Given the description of an element on the screen output the (x, y) to click on. 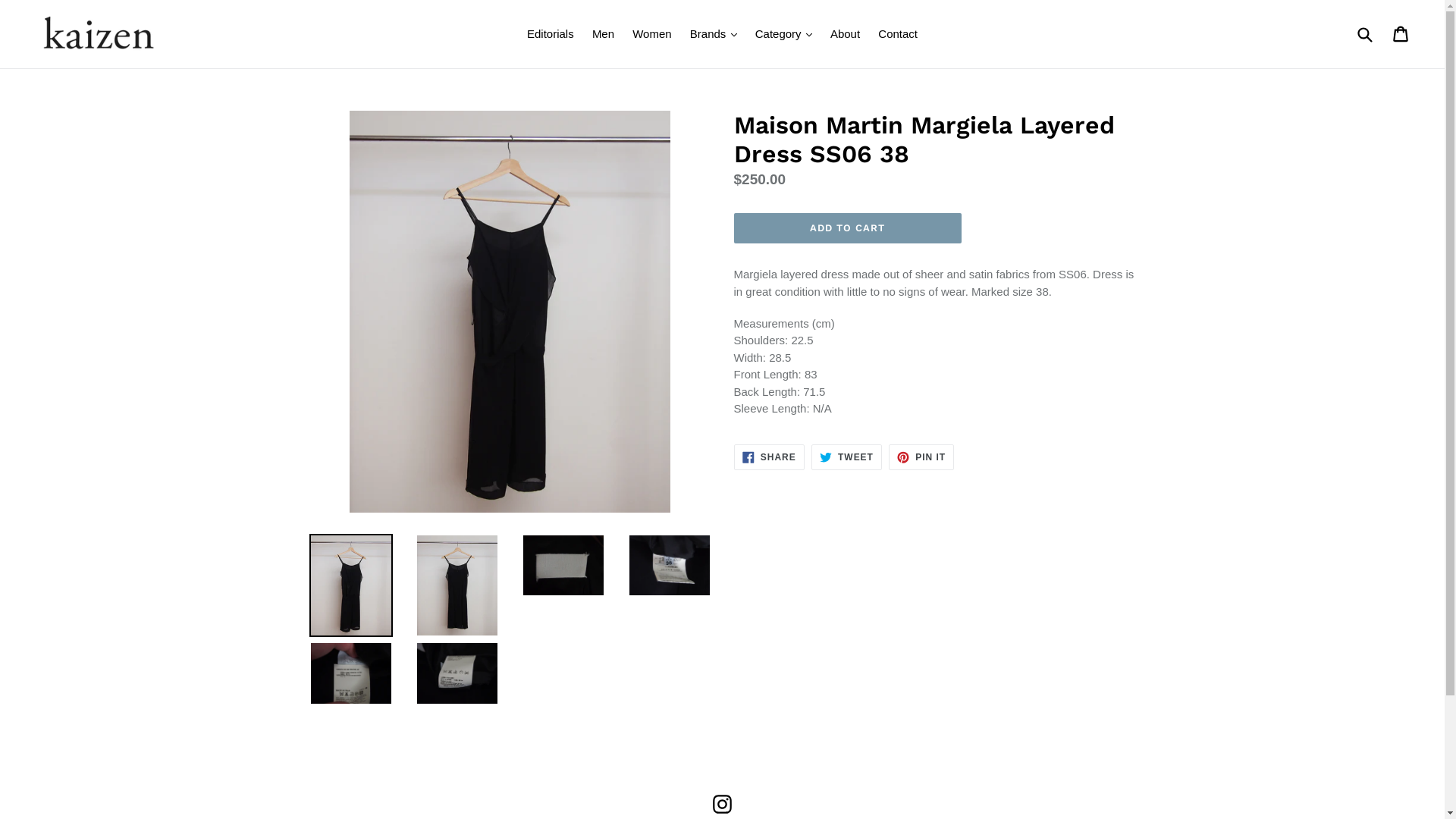
Instagram Element type: text (722, 803)
TWEET
TWEET ON TWITTER Element type: text (846, 457)
SHARE
SHARE ON FACEBOOK Element type: text (769, 457)
Submit Element type: text (1363, 33)
Cart
Cart Element type: text (1401, 33)
ADD TO CART Element type: text (847, 228)
Women Element type: text (651, 34)
Editorials Element type: text (550, 34)
PIN IT
PIN ON PINTEREST Element type: text (920, 457)
About Element type: text (844, 34)
Contact Element type: text (897, 34)
Men Element type: text (602, 34)
